Given the description of an element on the screen output the (x, y) to click on. 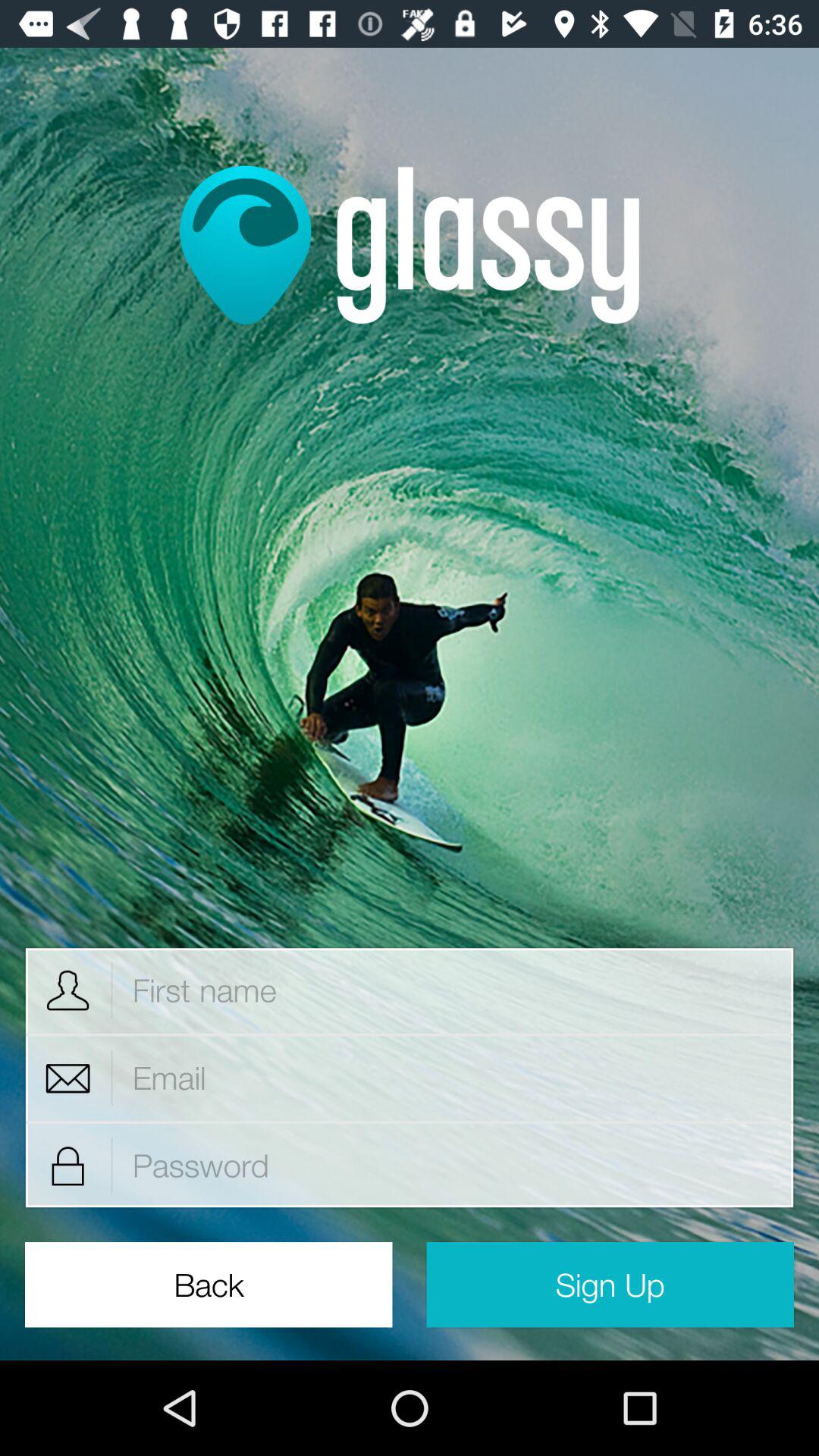
turn on icon at the bottom right corner (609, 1284)
